Given the description of an element on the screen output the (x, y) to click on. 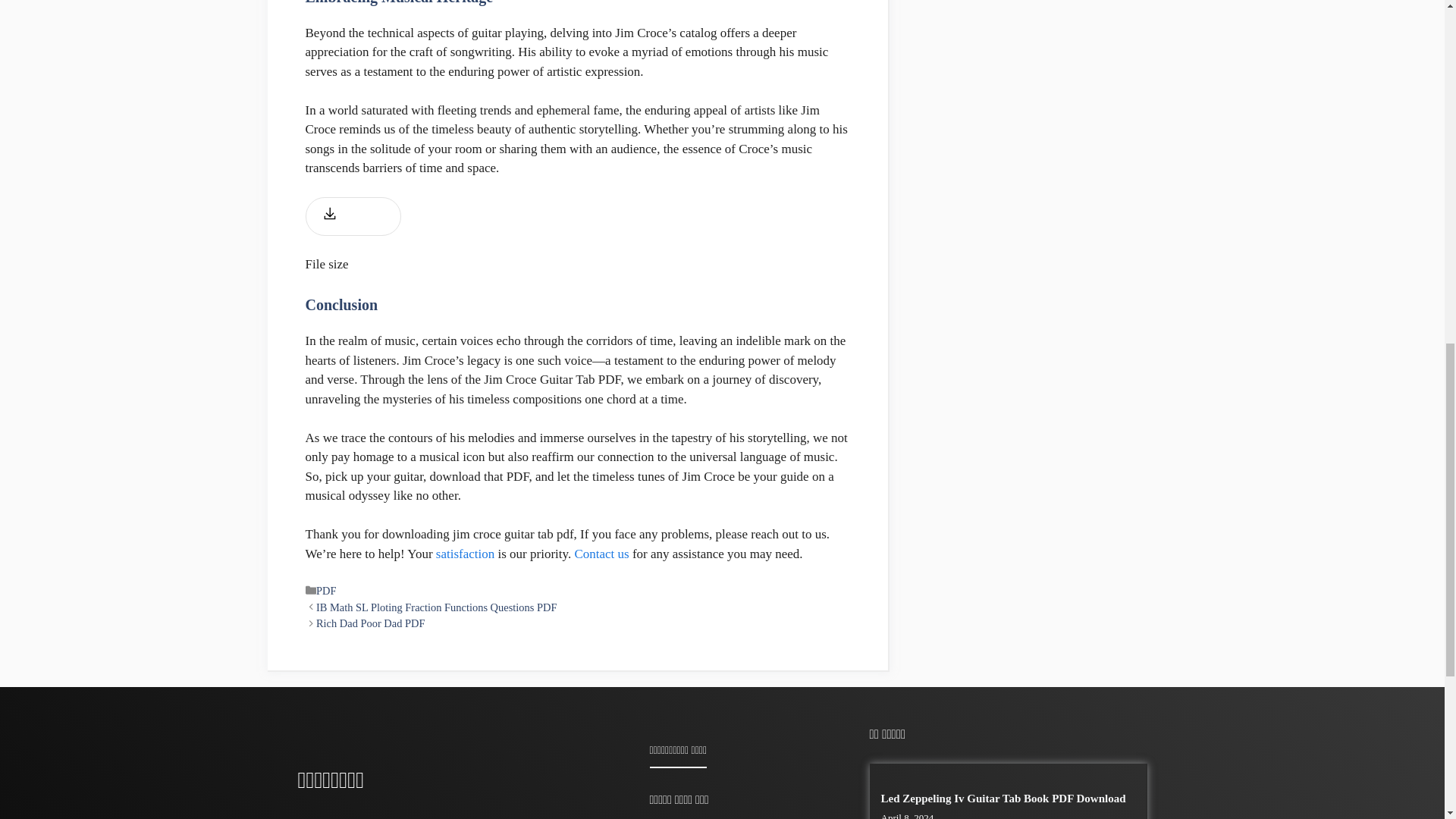
PDF (325, 590)
Download (352, 216)
satisfaction (465, 554)
Scroll back to top (1406, 720)
Download (352, 216)
Led Zeppeling Iv Guitar Tab Book PDF Download (1002, 798)
Contact us (600, 554)
IB Math SL Ploting Fraction Functions Questions PDF (436, 607)
Rich Dad Poor Dad PDF (370, 623)
